Given the description of an element on the screen output the (x, y) to click on. 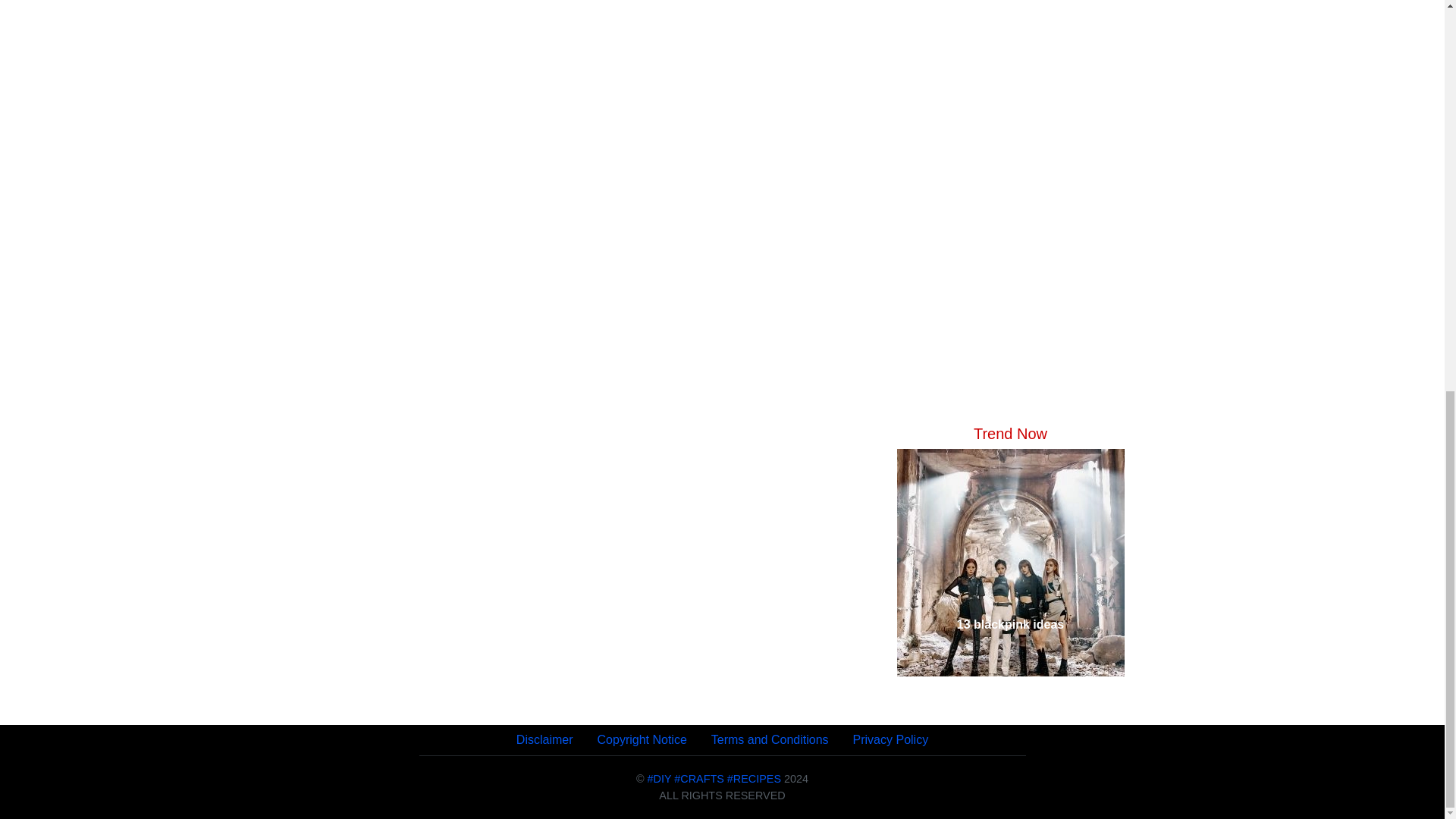
13 blackpink ideas (1009, 624)
13 blackpink ideas (1009, 624)
13 blackpink ideas (1009, 562)
